Given the description of an element on the screen output the (x, y) to click on. 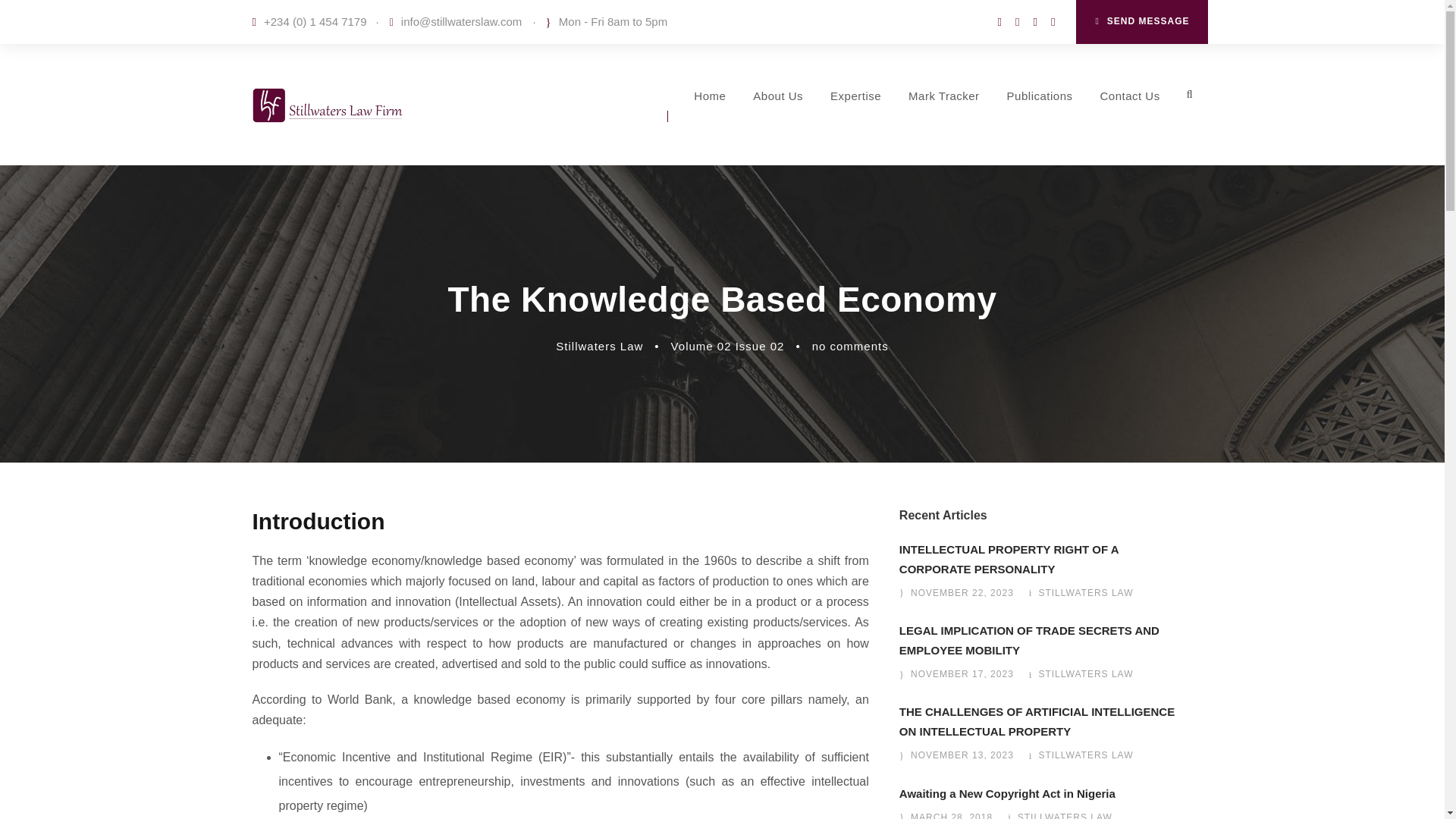
SEND MESSAGE (1141, 22)
Mark Tracker (943, 117)
Volume 02 Issue 02 (727, 345)
INTELLECTUAL PROPERTY RIGHT OF A CORPORATE PERSONALITY (1008, 558)
stillwaters-logo-1 (327, 104)
no comments (850, 345)
Stillwaters Law (599, 345)
Contact Us (1128, 117)
Posts by Stillwaters Law (1085, 593)
Posts by Stillwaters Law (599, 345)
Posts by Stillwaters Law (1085, 755)
Publications (1040, 117)
Posts by Stillwaters Law (1064, 815)
Posts by Stillwaters Law (1085, 674)
